Given the description of an element on the screen output the (x, y) to click on. 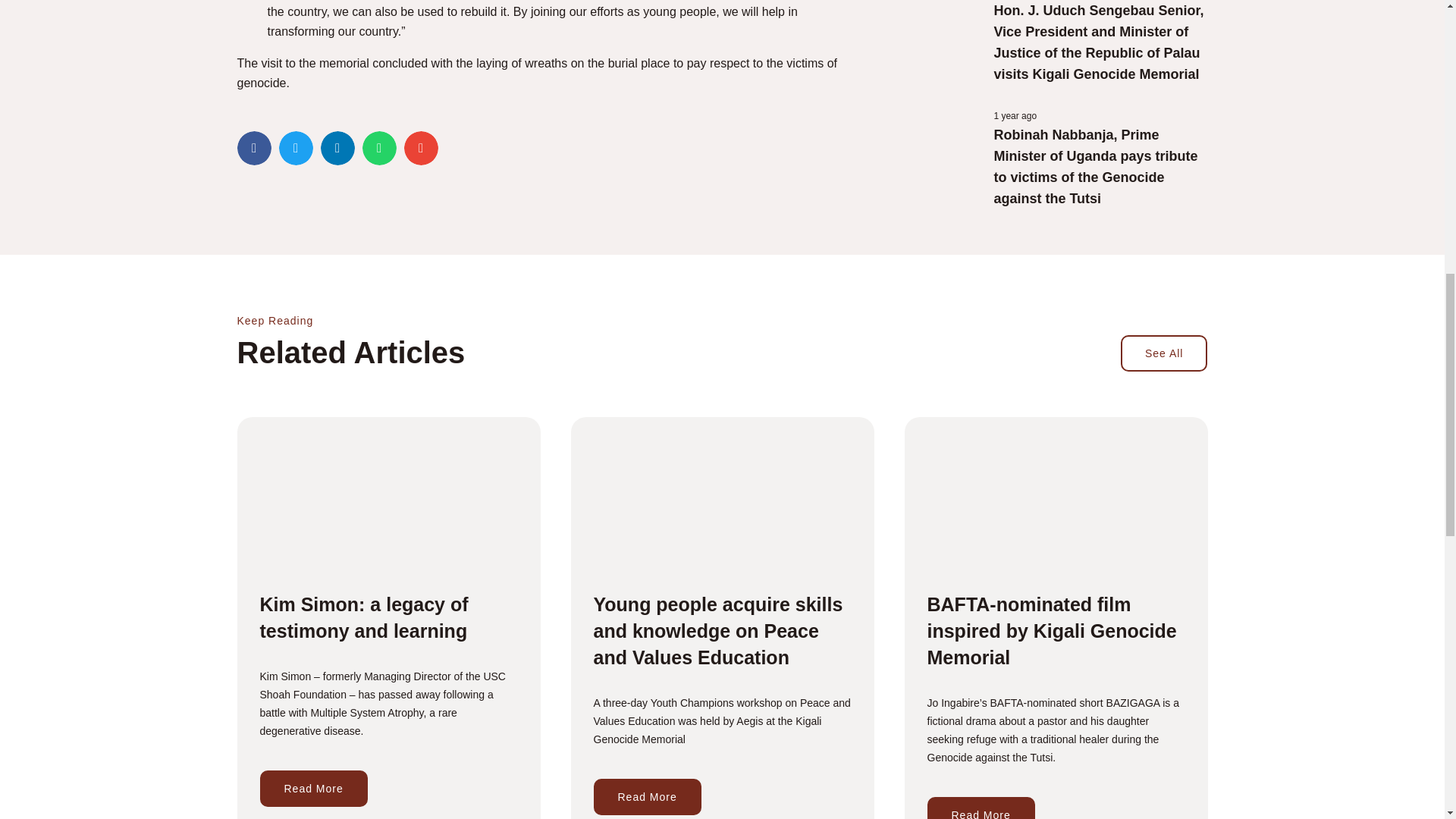
news-placeholder-image (946, 139)
news-placeholder-image (946, 23)
